Given the description of an element on the screen output the (x, y) to click on. 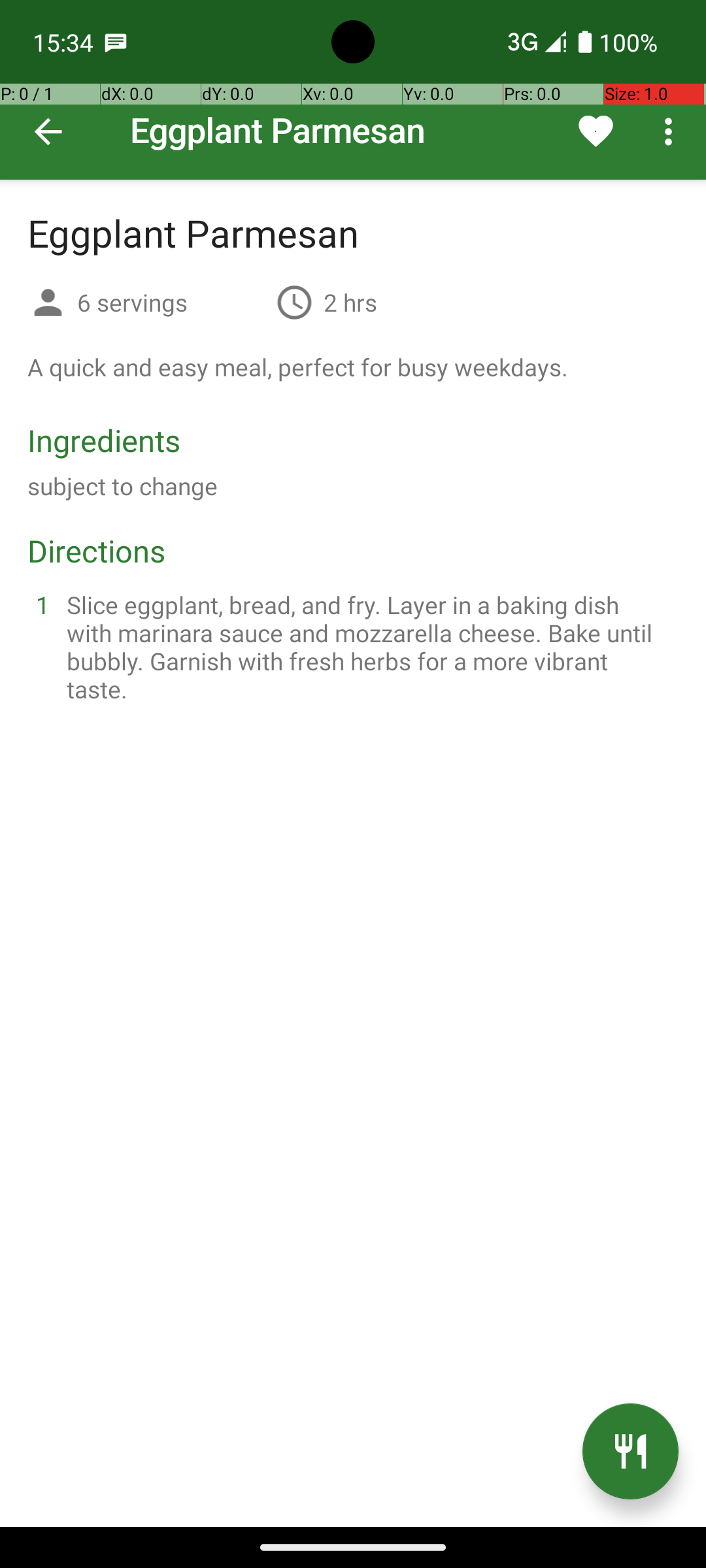
2 hrs Element type: android.widget.TextView (350, 301)
subject to change Element type: android.widget.TextView (122, 485)
Slice eggplant, bread, and fry. Layer in a baking dish with marinara sauce and mozzarella cheese. Bake until bubbly. Garnish with fresh herbs for a more vibrant taste. Element type: android.widget.TextView (368, 646)
